Given the description of an element on the screen output the (x, y) to click on. 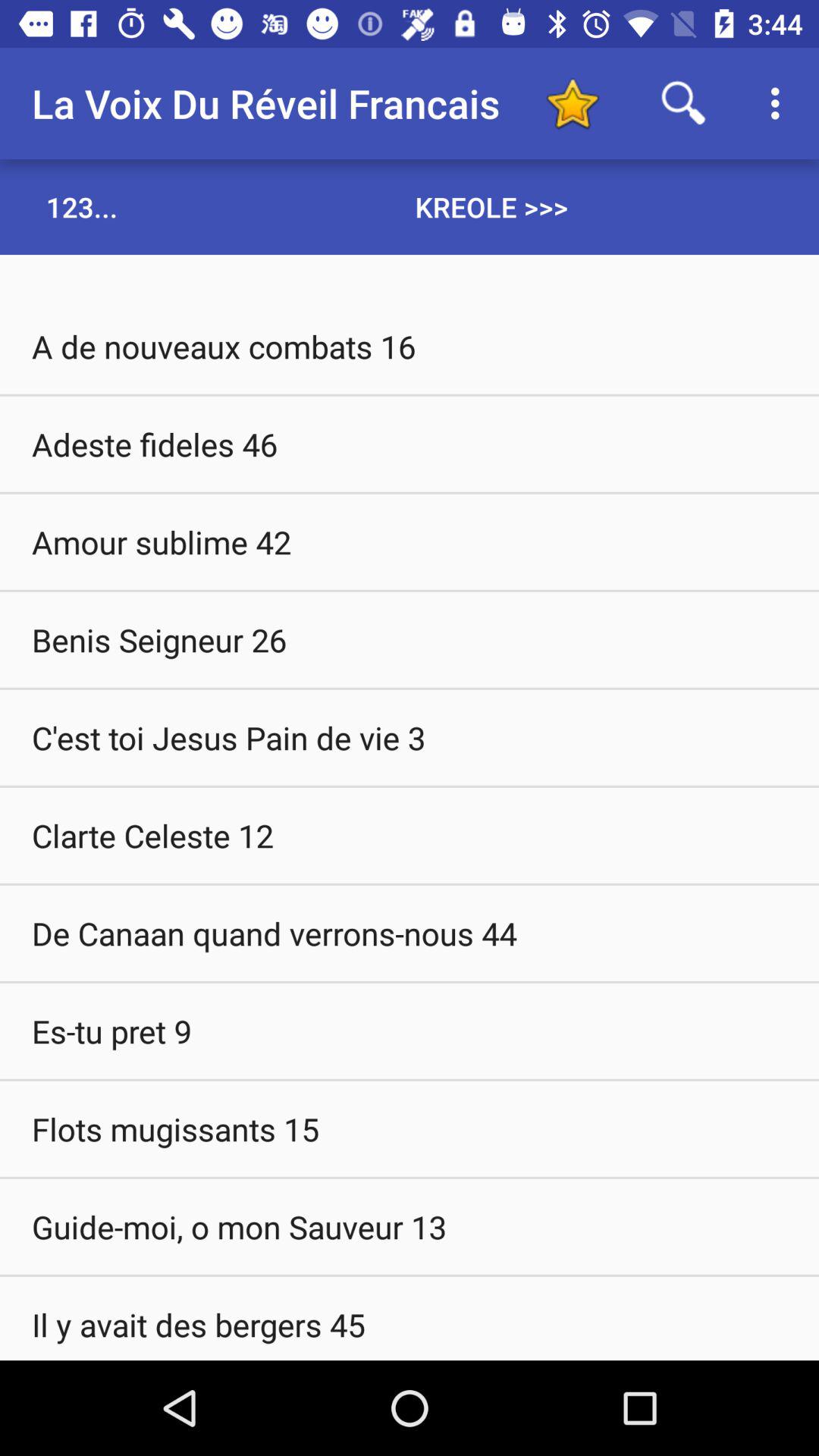
select icon below es tu pret icon (409, 1128)
